Given the description of an element on the screen output the (x, y) to click on. 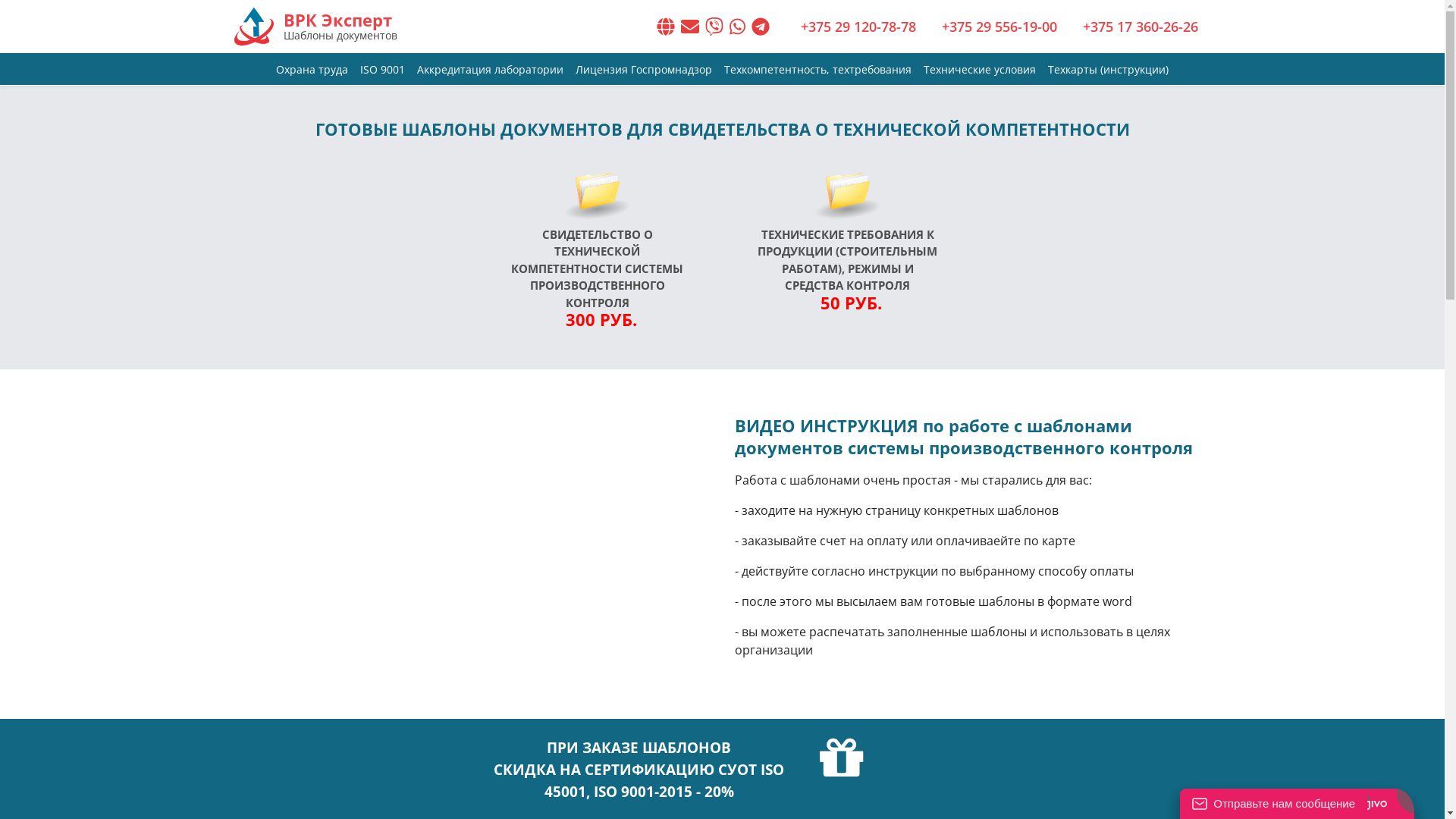
+375 29 120-78-78 Element type: text (857, 26)
+375 17 360-26-26 Element type: text (1139, 26)
+375 29 556-19-00 Element type: text (998, 26)
ISO 9001 Element type: text (382, 69)
